Given the description of an element on the screen output the (x, y) to click on. 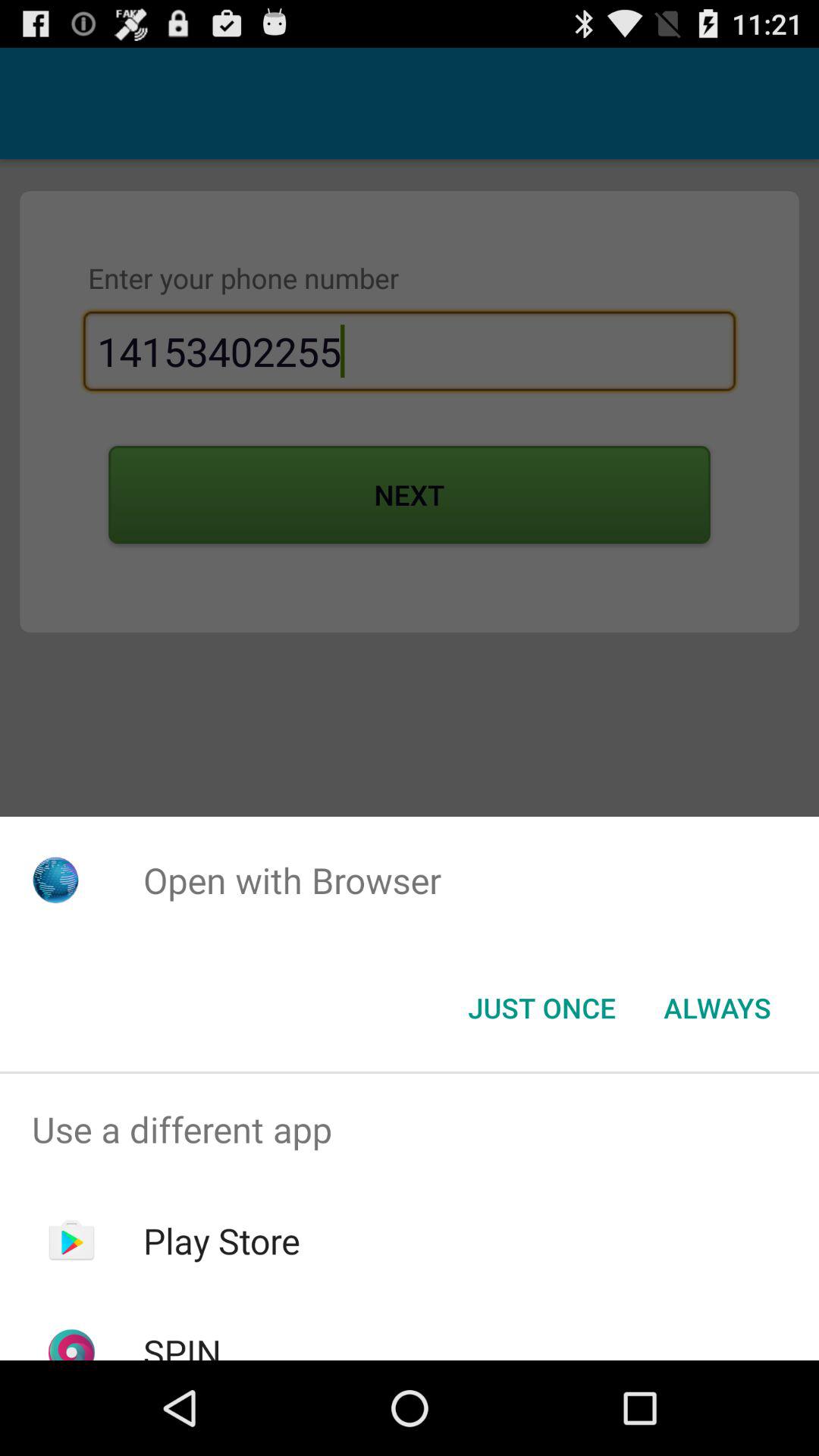
press the play store app (221, 1240)
